Given the description of an element on the screen output the (x, y) to click on. 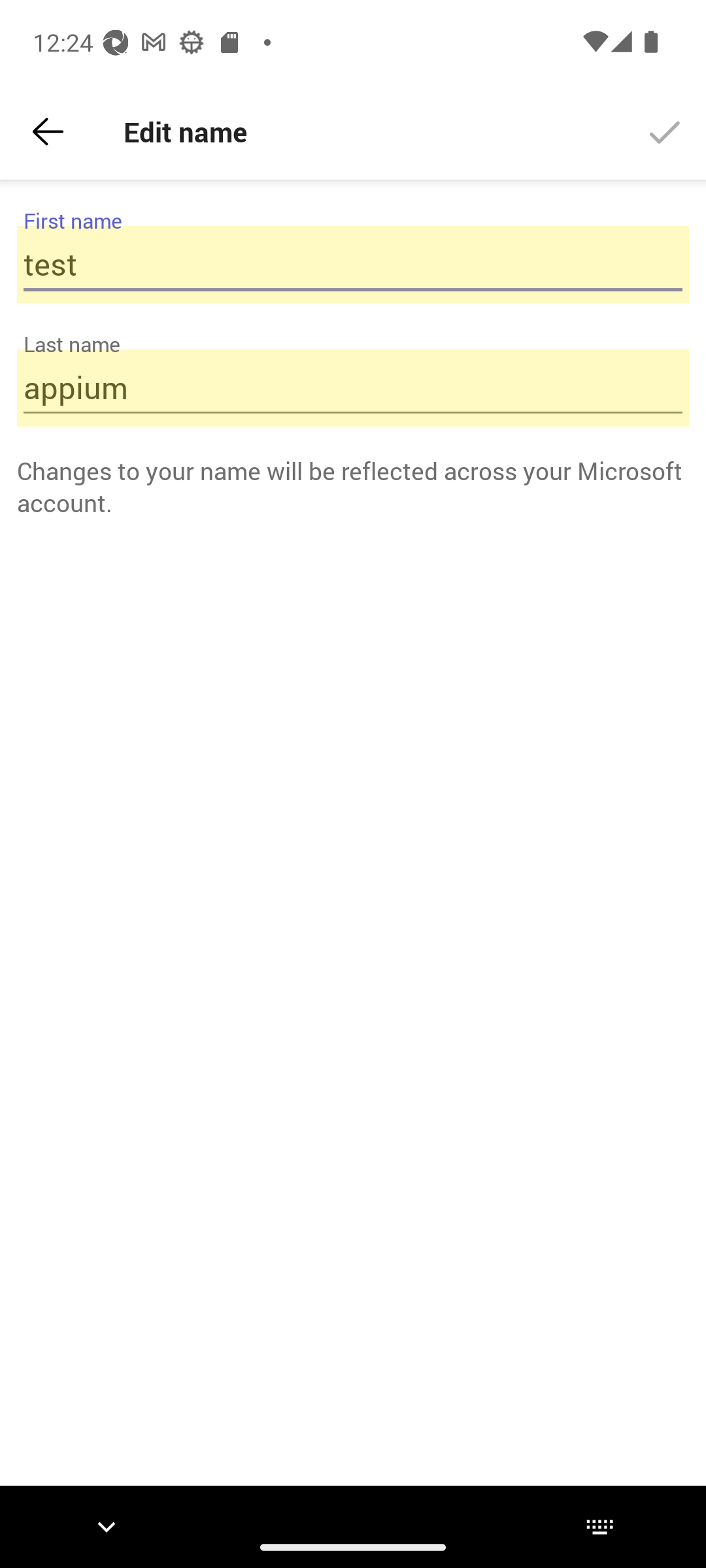
Back (48, 131)
test (352, 263)
appium (352, 387)
